Given the description of an element on the screen output the (x, y) to click on. 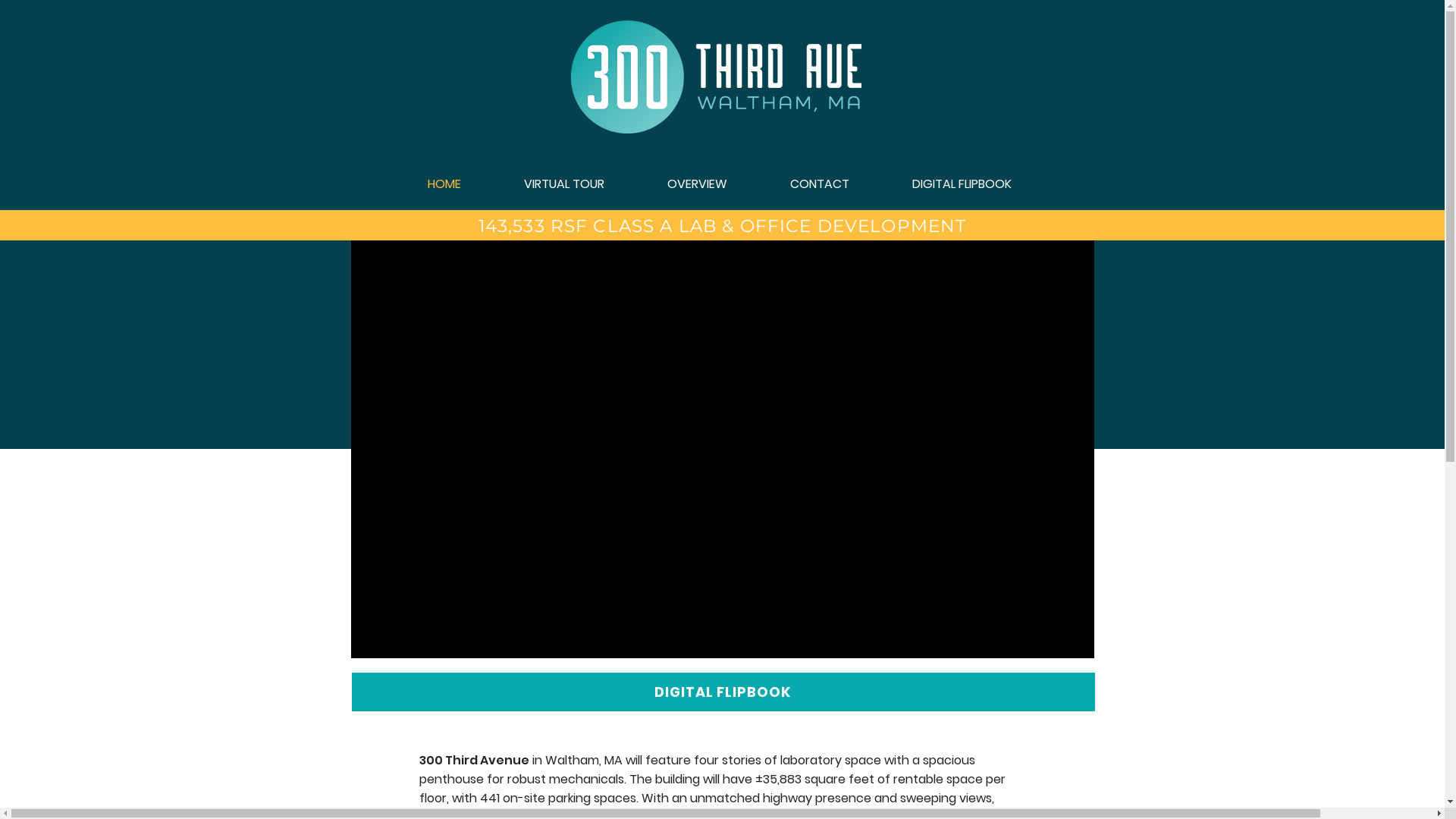
CONTACT Element type: text (819, 184)
Vimeo Element type: hover (721, 449)
DIGITAL FLIPBOOK Element type: text (962, 184)
OVERVIEW Element type: text (696, 184)
DIGITAL FLIPBOOK Element type: text (722, 691)
VIRTUAL TOUR Element type: text (564, 184)
HOME Element type: text (443, 184)
